Given the description of an element on the screen output the (x, y) to click on. 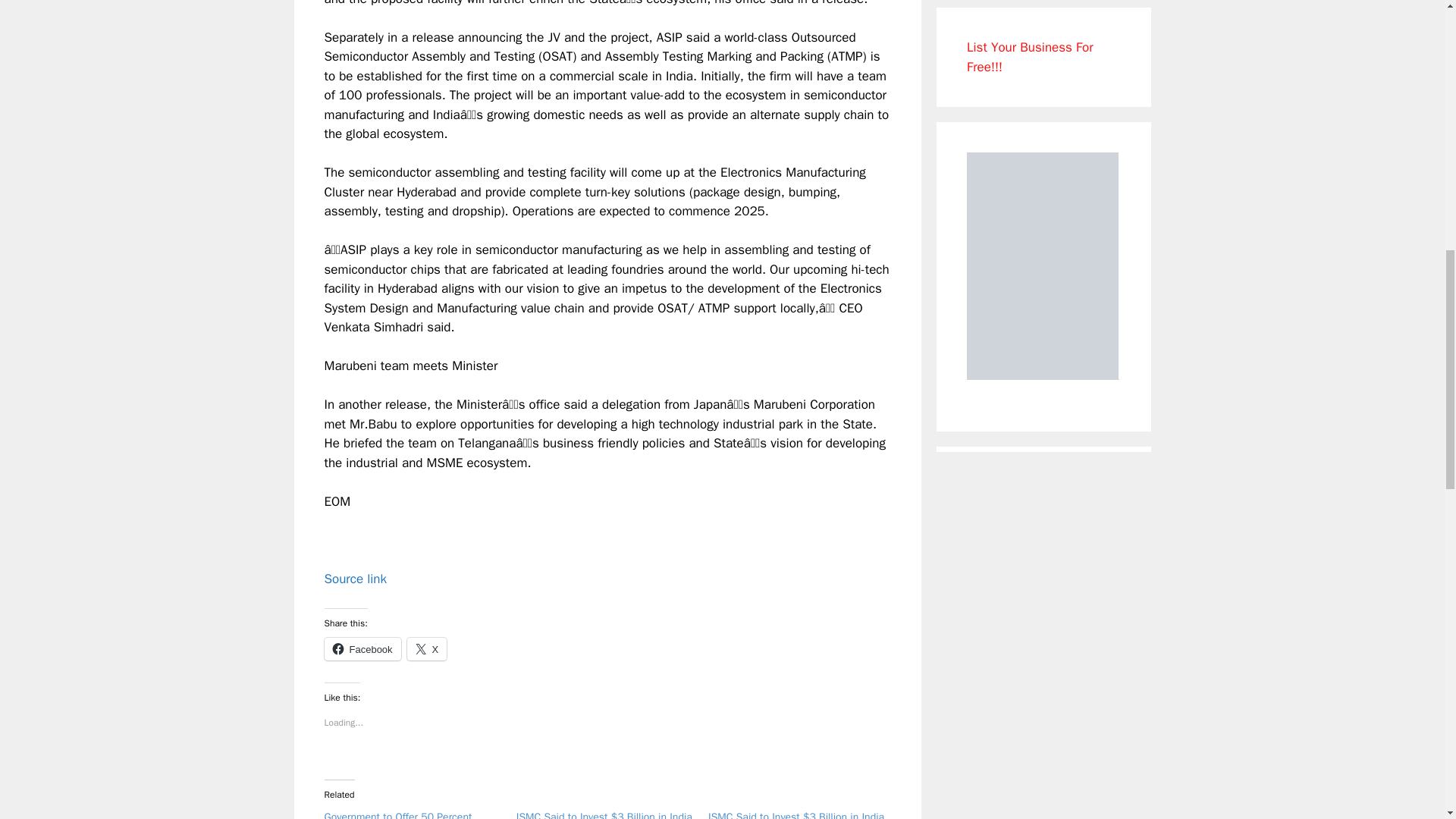
Click to share on Facebook (362, 649)
X (426, 649)
Click to share on X (426, 649)
Source link (355, 578)
Facebook (362, 649)
